Given the description of an element on the screen output the (x, y) to click on. 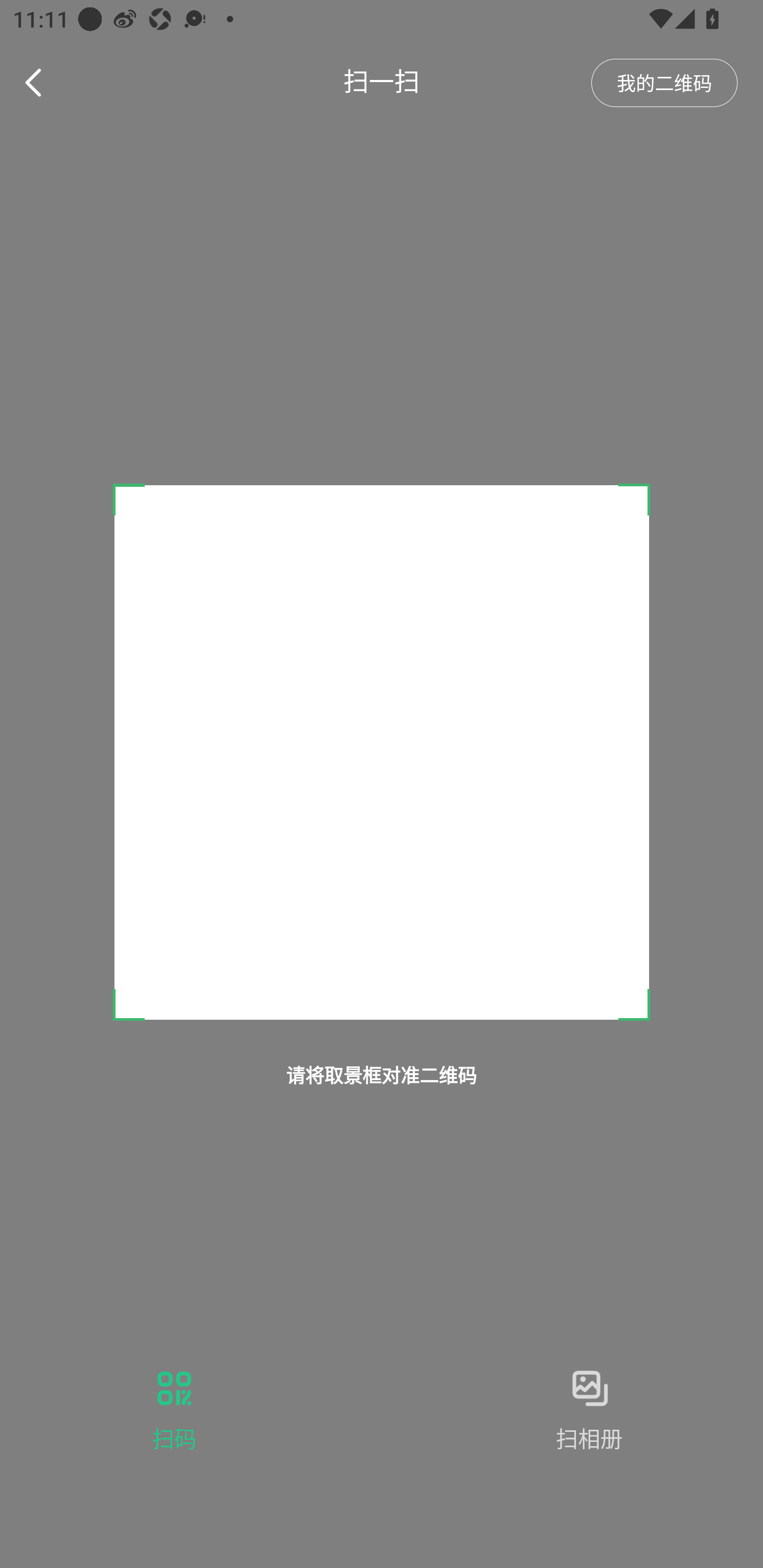
我的二维码 (664, 82)
扫码 (174, 1409)
扫相册 (588, 1409)
